Given the description of an element on the screen output the (x, y) to click on. 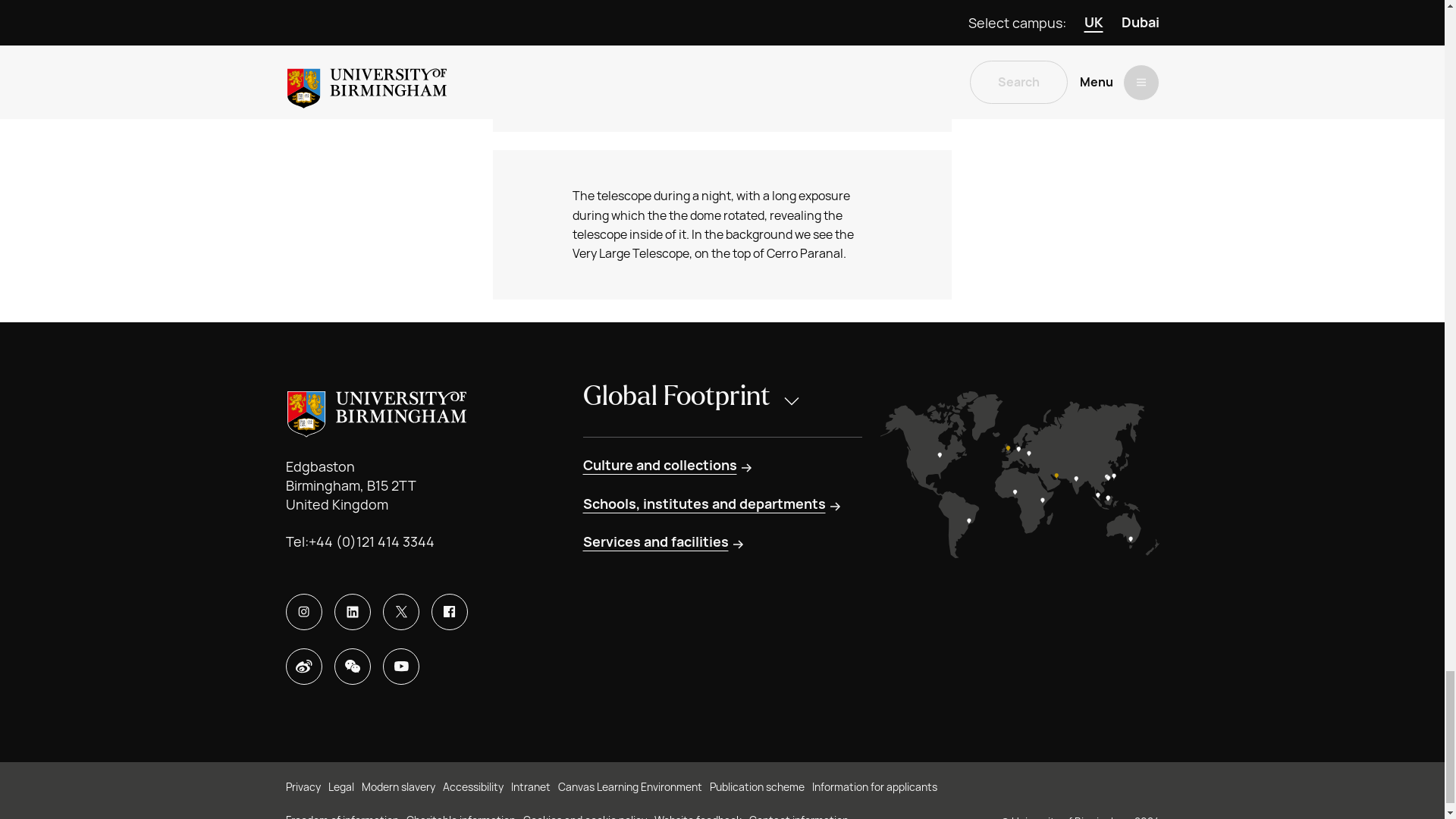
Information for applicants (873, 787)
Charitable information (460, 815)
Culture and collections (668, 465)
Intranet (530, 787)
Legal (340, 787)
Privacy (302, 787)
Services and facilities (663, 542)
Accessibility (472, 787)
Schools, institutes and departments (712, 504)
Publication scheme (757, 787)
Canvas Learning Environment (629, 787)
Contact information (798, 815)
Cookies and cookie policy (584, 815)
Website feedback (697, 815)
Freedom of information (341, 815)
